Given the description of an element on the screen output the (x, y) to click on. 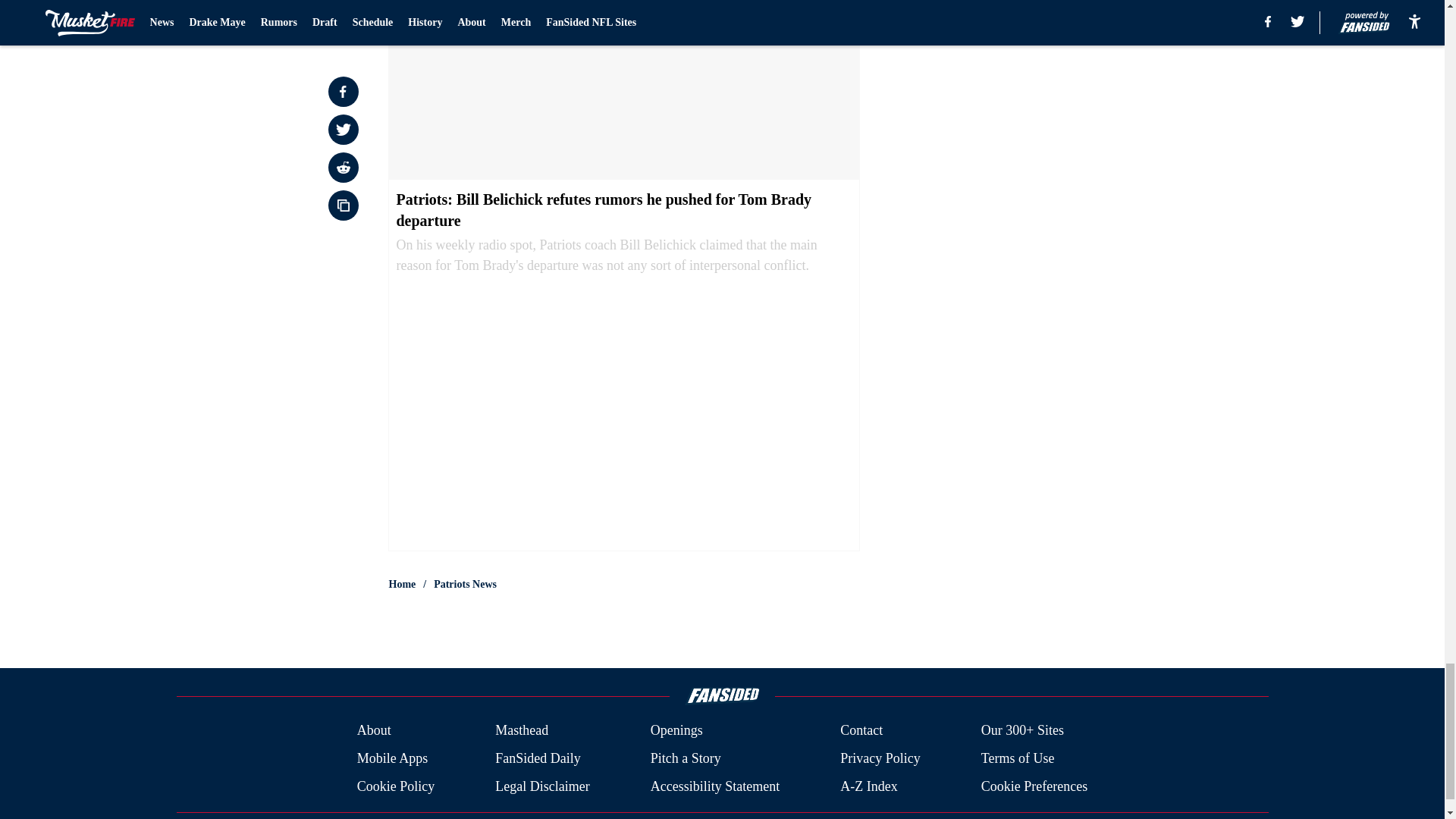
Home (401, 584)
About (373, 730)
Masthead (521, 730)
Patriots News (464, 584)
